Given the description of an element on the screen output the (x, y) to click on. 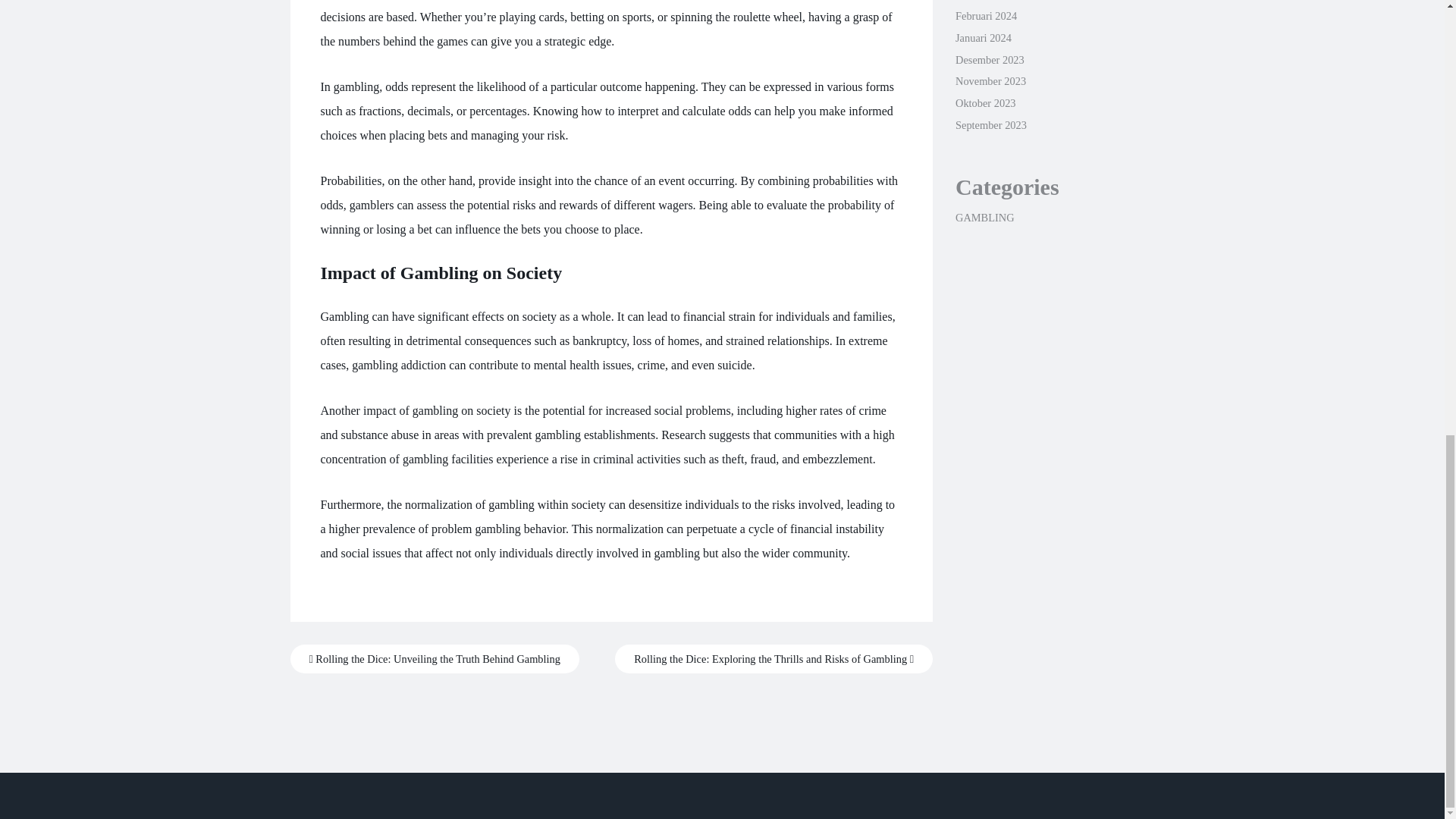
September 2023 (990, 124)
Oktober 2023 (985, 102)
Januari 2024 (983, 37)
Rolling the Dice: Unveiling the Truth Behind Gambling (433, 659)
Februari 2024 (985, 15)
GAMBLING (984, 217)
November 2023 (990, 80)
Desember 2023 (990, 60)
